Given the description of an element on the screen output the (x, y) to click on. 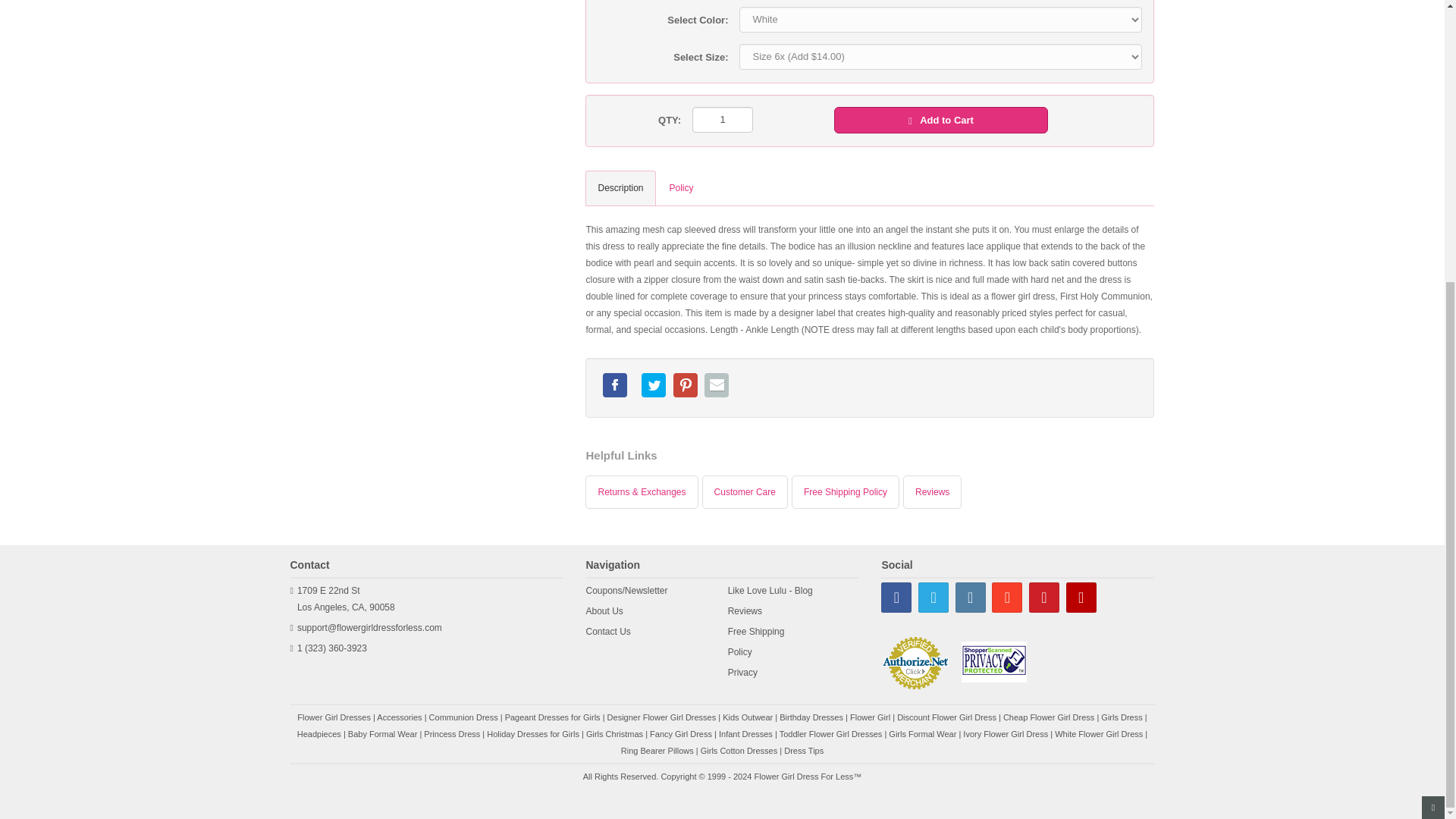
Select Size: (657, 55)
Quantity (633, 117)
Select Color: (657, 17)
1 (722, 119)
